Given the description of an element on the screen output the (x, y) to click on. 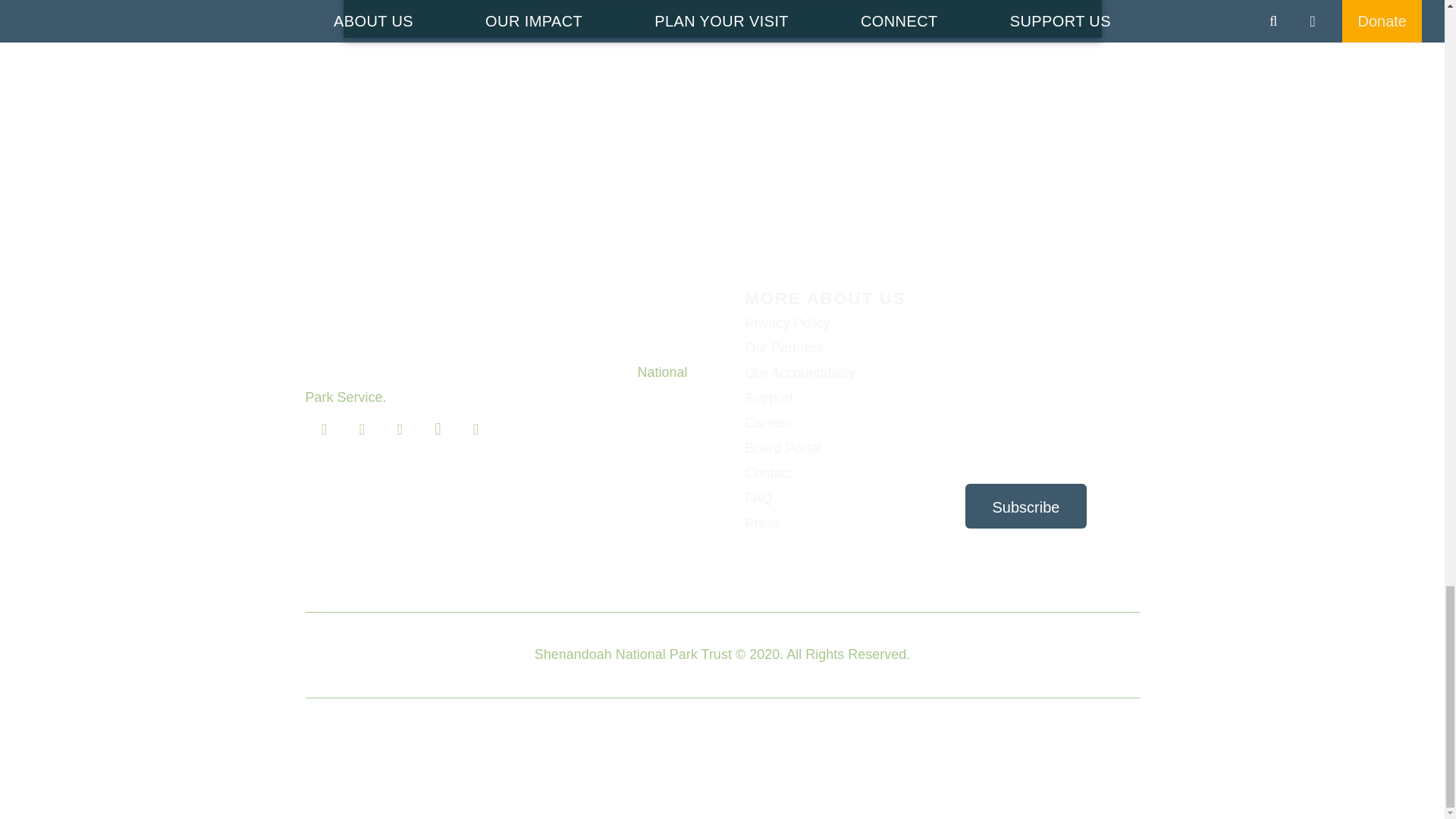
YouTube (476, 428)
Facebook (323, 428)
Instagram (438, 428)
Twitter (361, 428)
LinkedIn (399, 428)
